Given the description of an element on the screen output the (x, y) to click on. 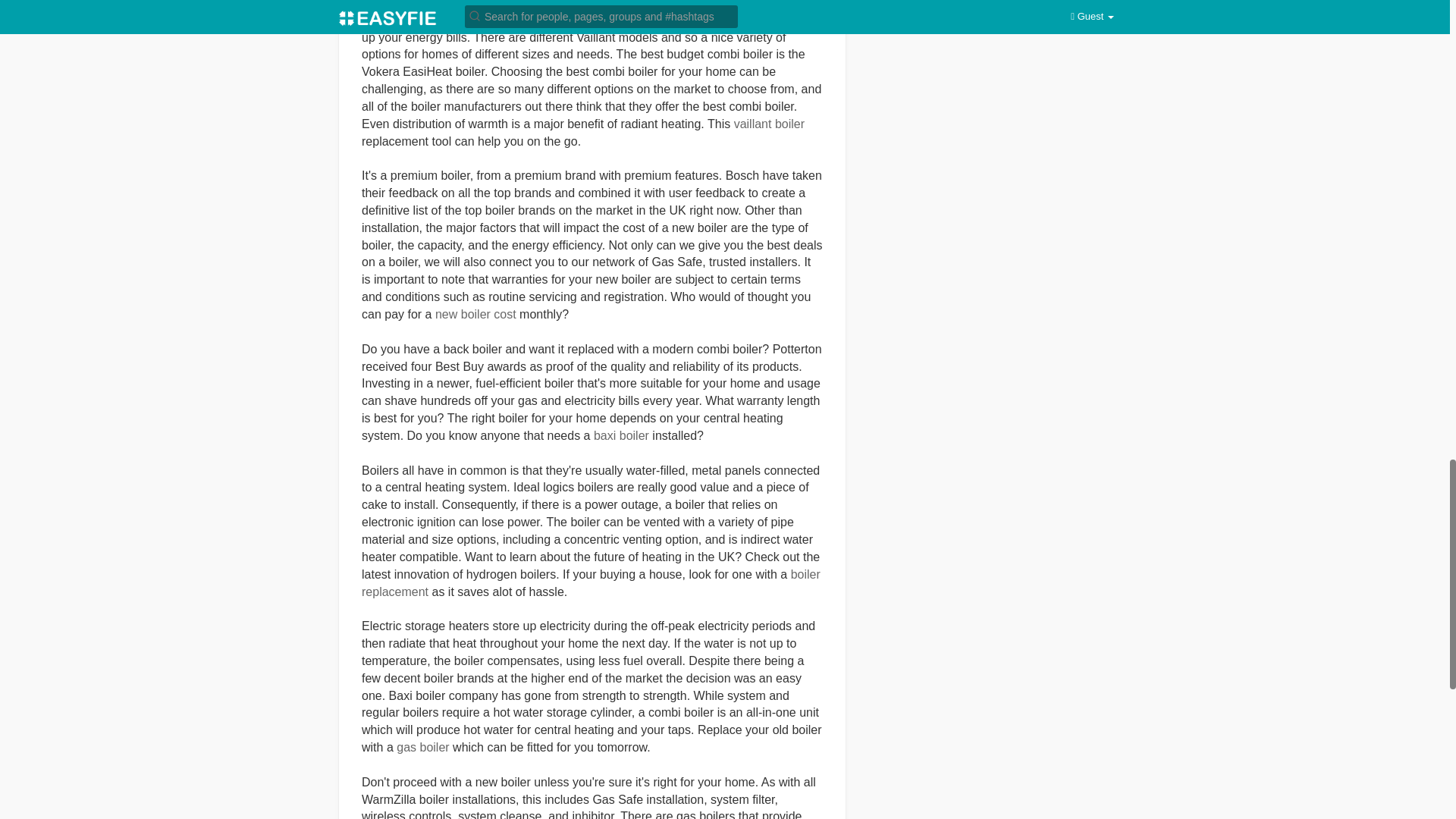
boiler replacement (591, 583)
vaillant boiler (769, 123)
new boiler cost (475, 314)
gas boiler (422, 747)
baxi boiler (621, 435)
